Given the description of an element on the screen output the (x, y) to click on. 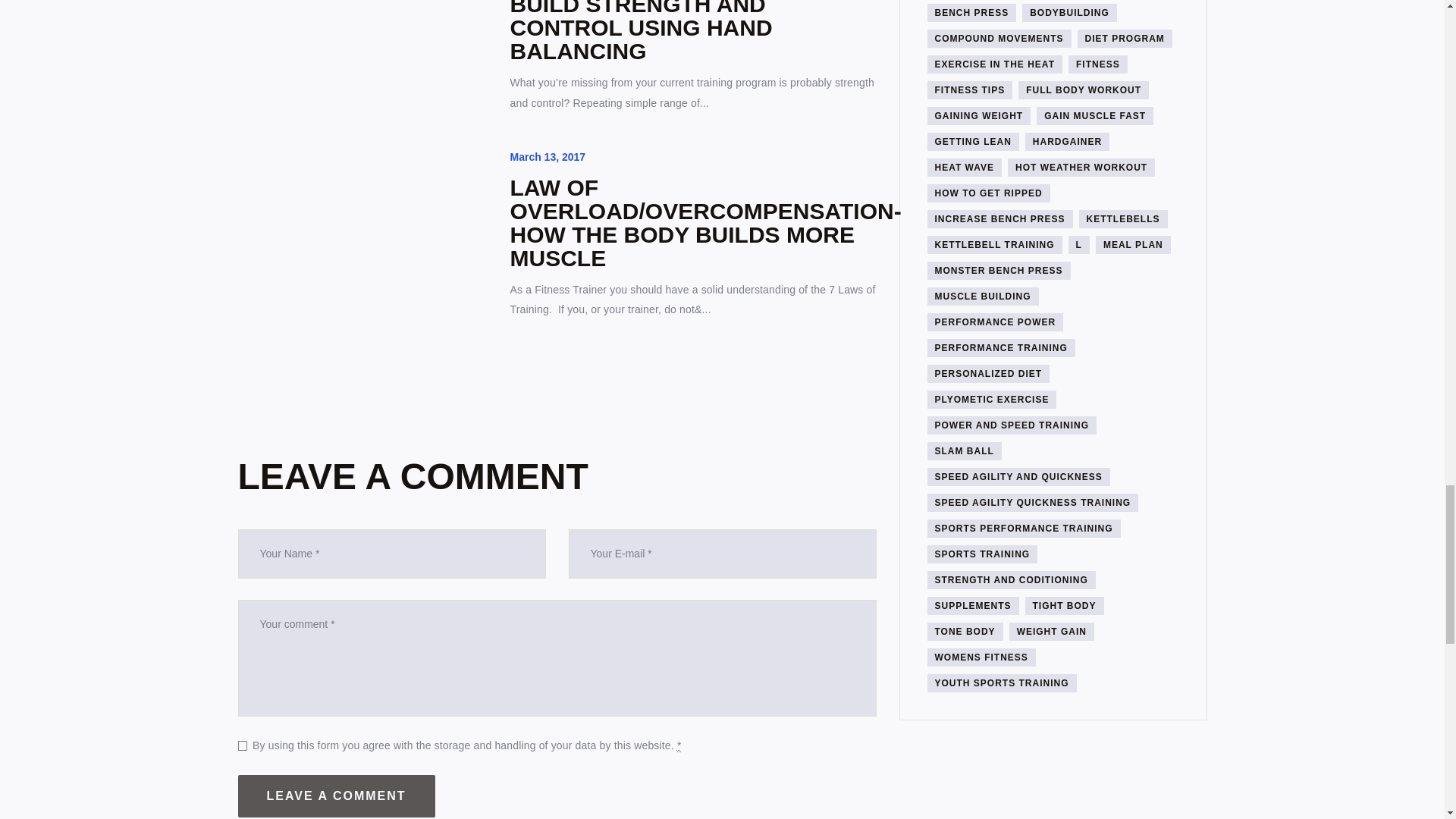
Leave a comment (336, 795)
